Given the description of an element on the screen output the (x, y) to click on. 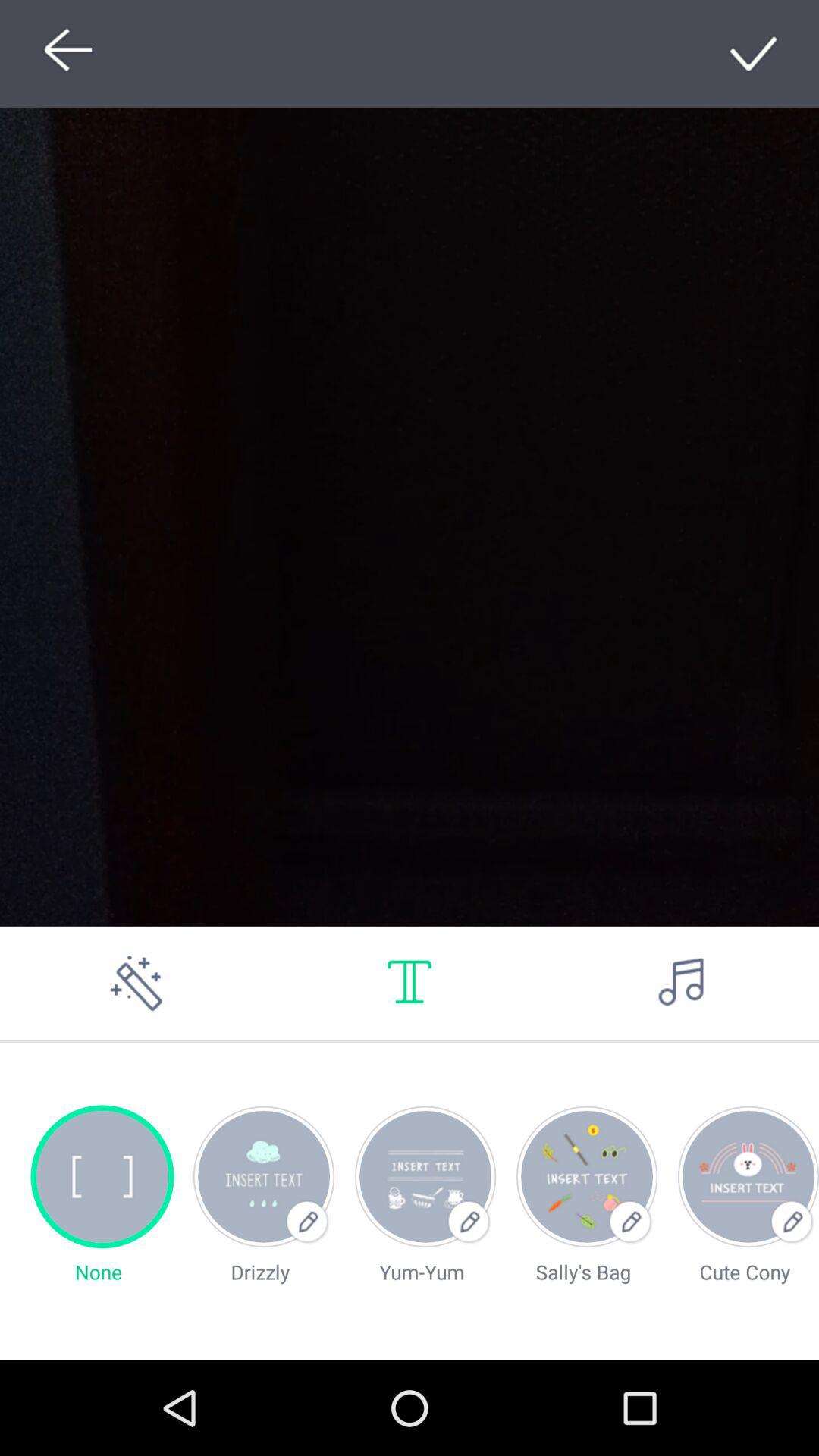
add a text (409, 983)
